Given the description of an element on the screen output the (x, y) to click on. 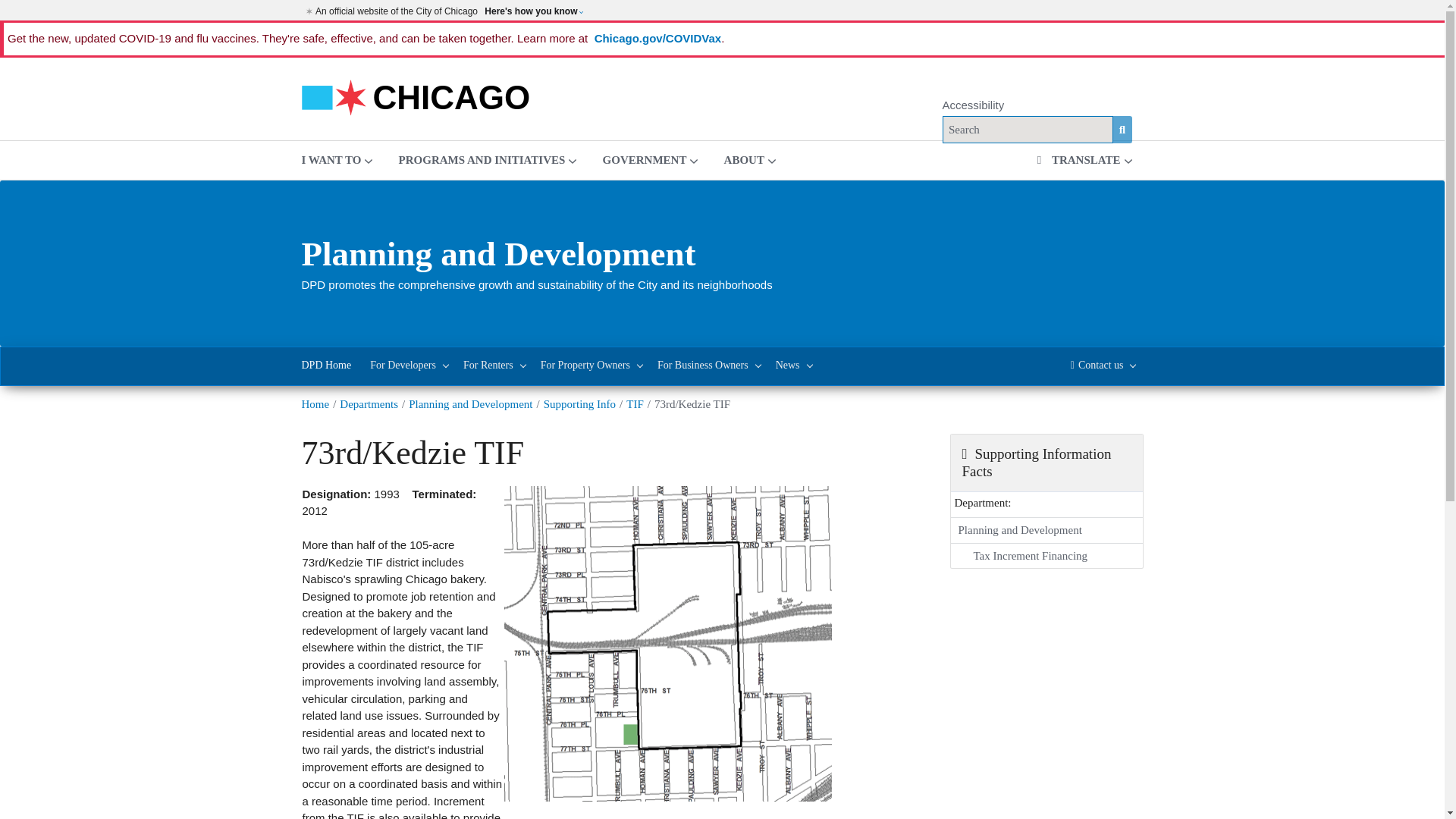
Planning and Development Home (326, 365)
CHICAGO (416, 94)
I WANT TO (336, 159)
GOVERNMENT (650, 159)
Government (650, 159)
Programs and Initiatives (487, 159)
Home (416, 94)
PROGRAMS AND INITIATIVES (487, 159)
Here's how you know (533, 11)
